Given the description of an element on the screen output the (x, y) to click on. 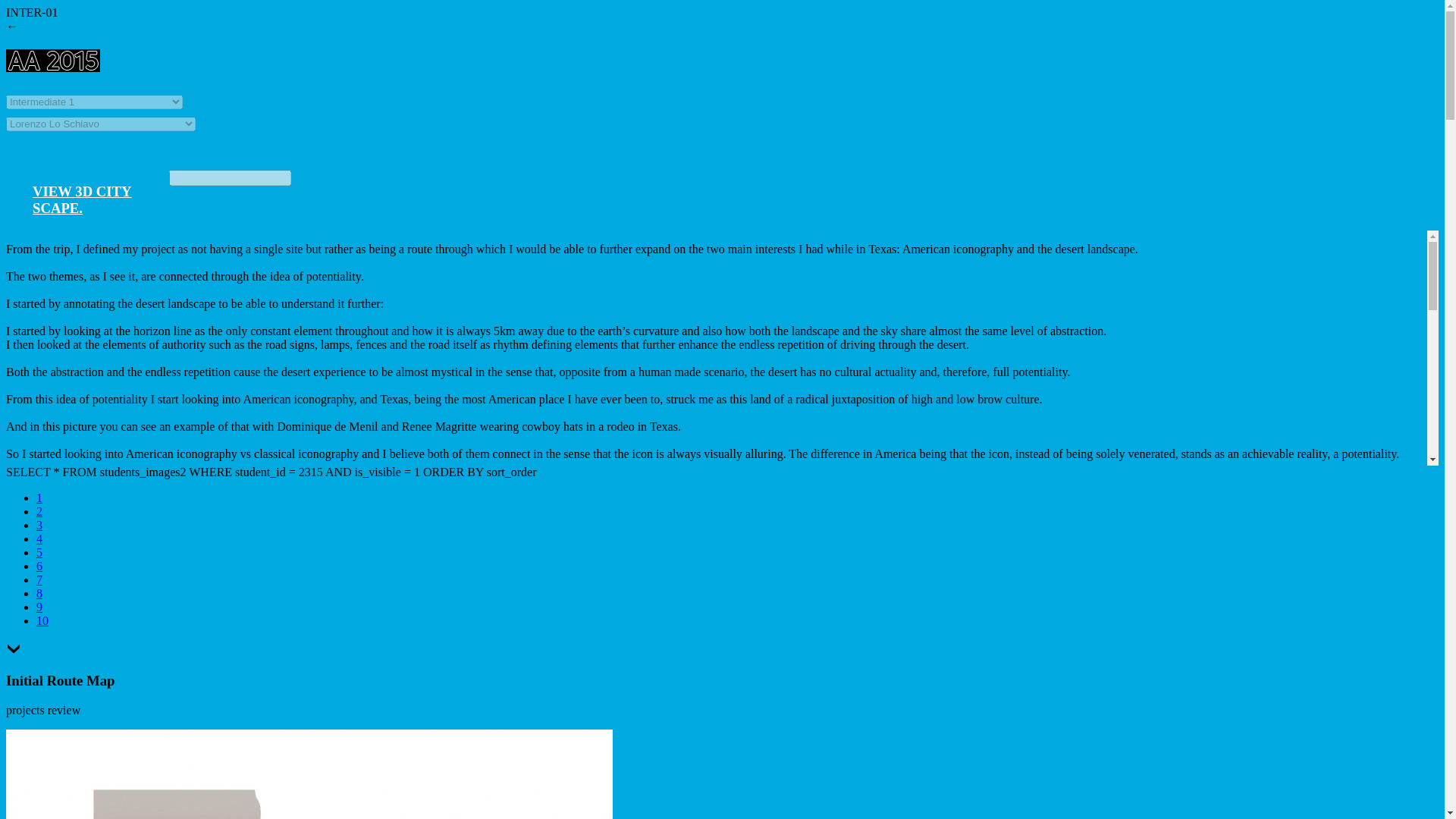
VIEW 3D CITY SCAPE. (82, 199)
10 (42, 620)
Next Image (42, 620)
Next Image (13, 650)
